Given the description of an element on the screen output the (x, y) to click on. 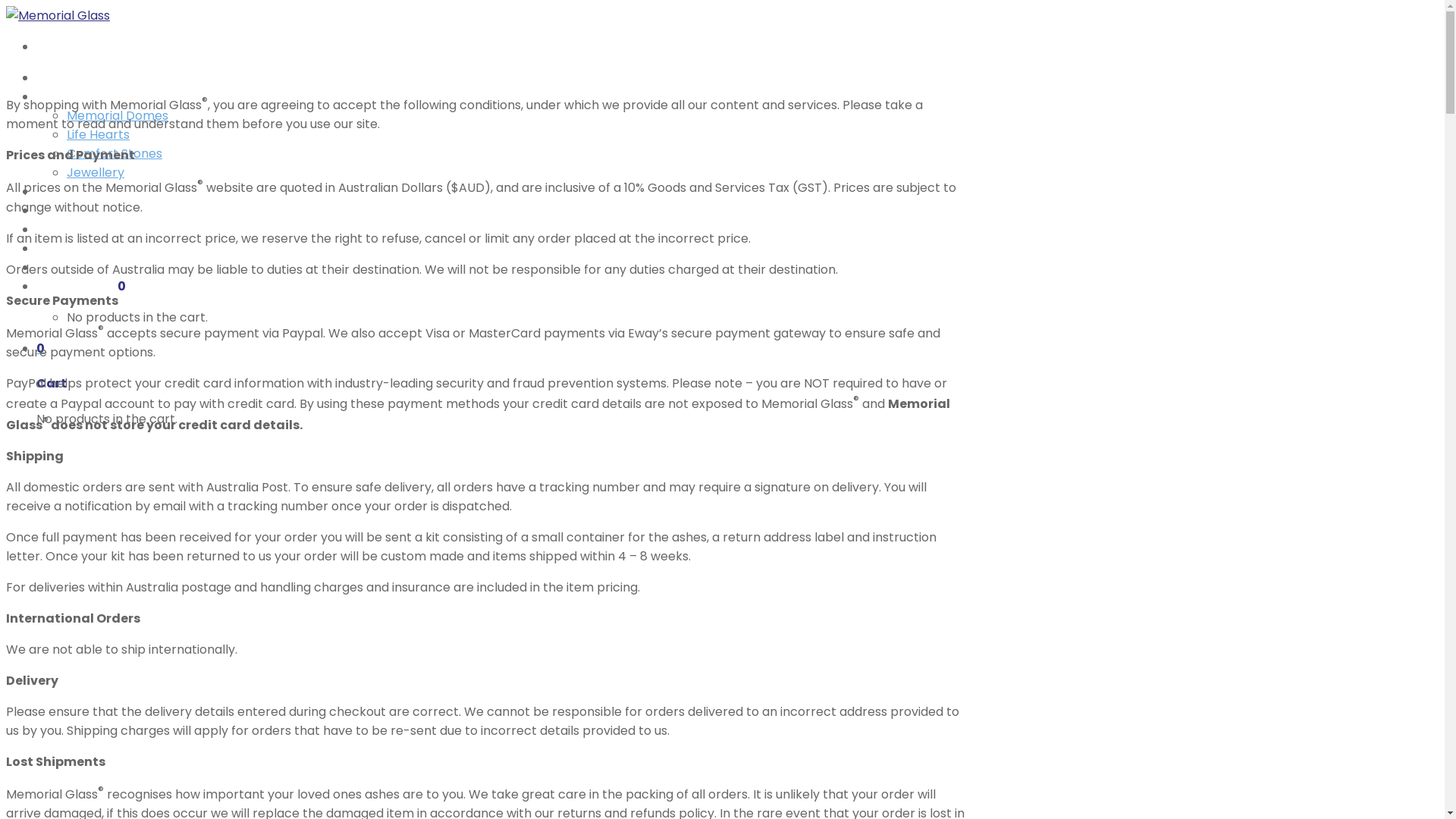
Testimonials Element type: text (79, 229)
Skip to content Element type: text (5, 5)
Life Hearts Element type: text (97, 134)
Cart / $ 0.00 0 Element type: text (80, 285)
Shop Element type: text (52, 96)
Contact Us Element type: text (72, 248)
0 Element type: text (40, 348)
Comfort Stones Element type: text (114, 153)
Home Element type: text (55, 77)
Jewellery Element type: text (95, 172)
Memorial Glass - Ashes eternalised in glass mementoes Element type: hover (58, 15)
About Us Element type: text (65, 191)
Memorial Domes Element type: text (117, 115)
